Given the description of an element on the screen output the (x, y) to click on. 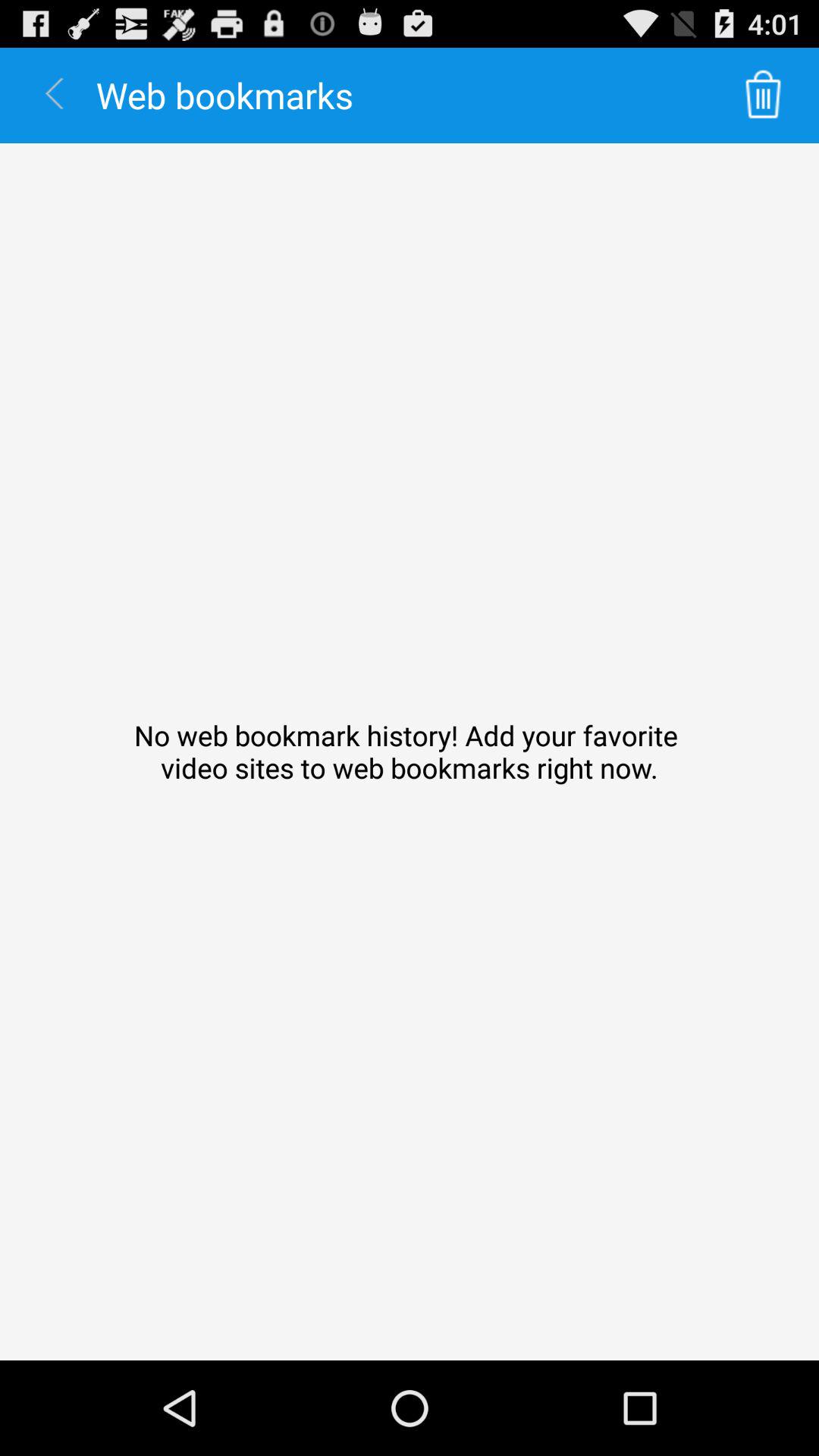
open the icon above the no web bookmark item (763, 95)
